Given the description of an element on the screen output the (x, y) to click on. 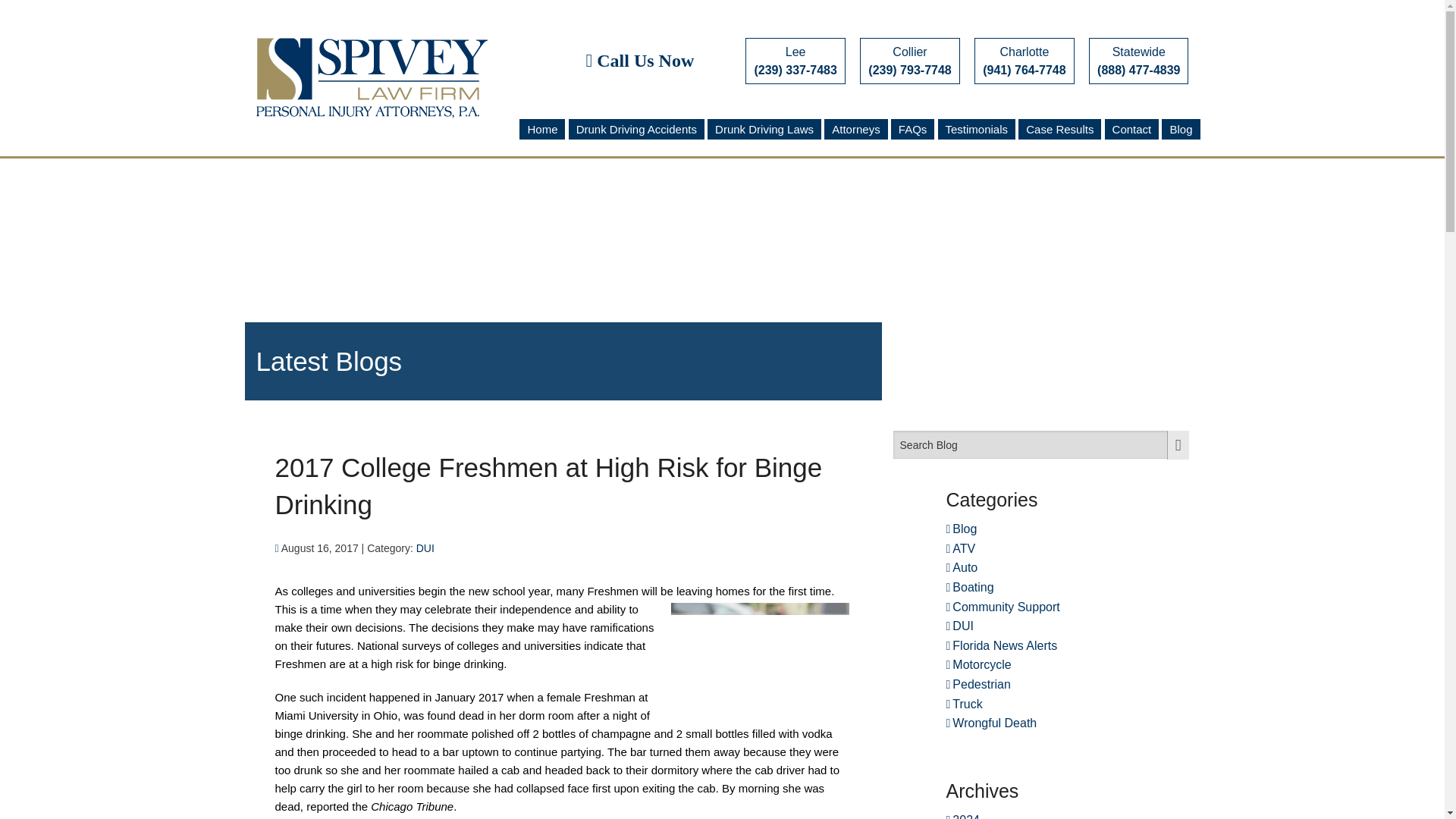
Home (541, 128)
Drunk Driving Laws (764, 128)
Attorneys (855, 128)
Drunk Driving Accidents (636, 128)
Search Blog (1041, 444)
